Given the description of an element on the screen output the (x, y) to click on. 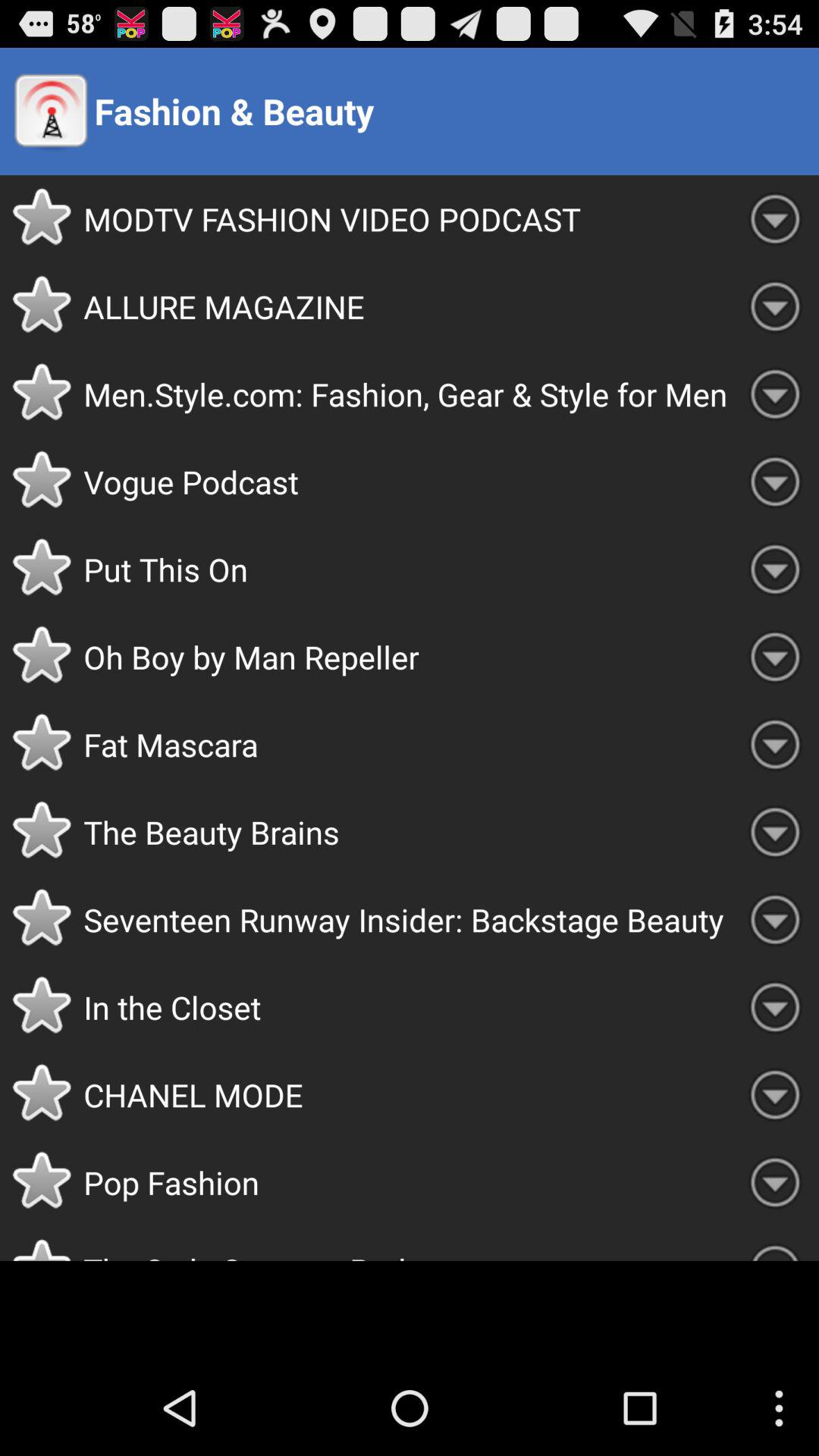
flip to the put this on item (407, 569)
